Given the description of an element on the screen output the (x, y) to click on. 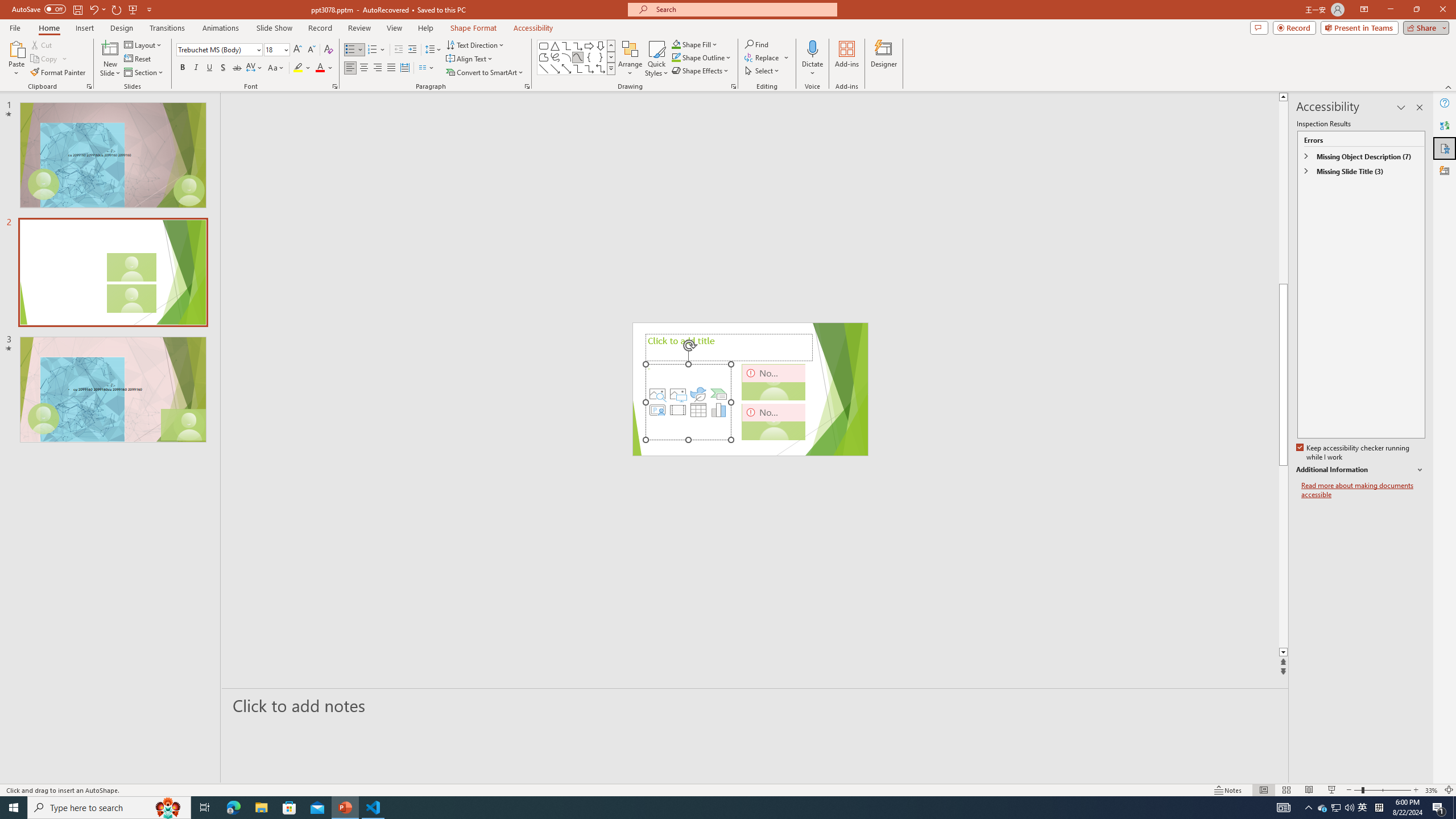
Camera 3, No camera detected. (773, 421)
